Given the description of an element on the screen output the (x, y) to click on. 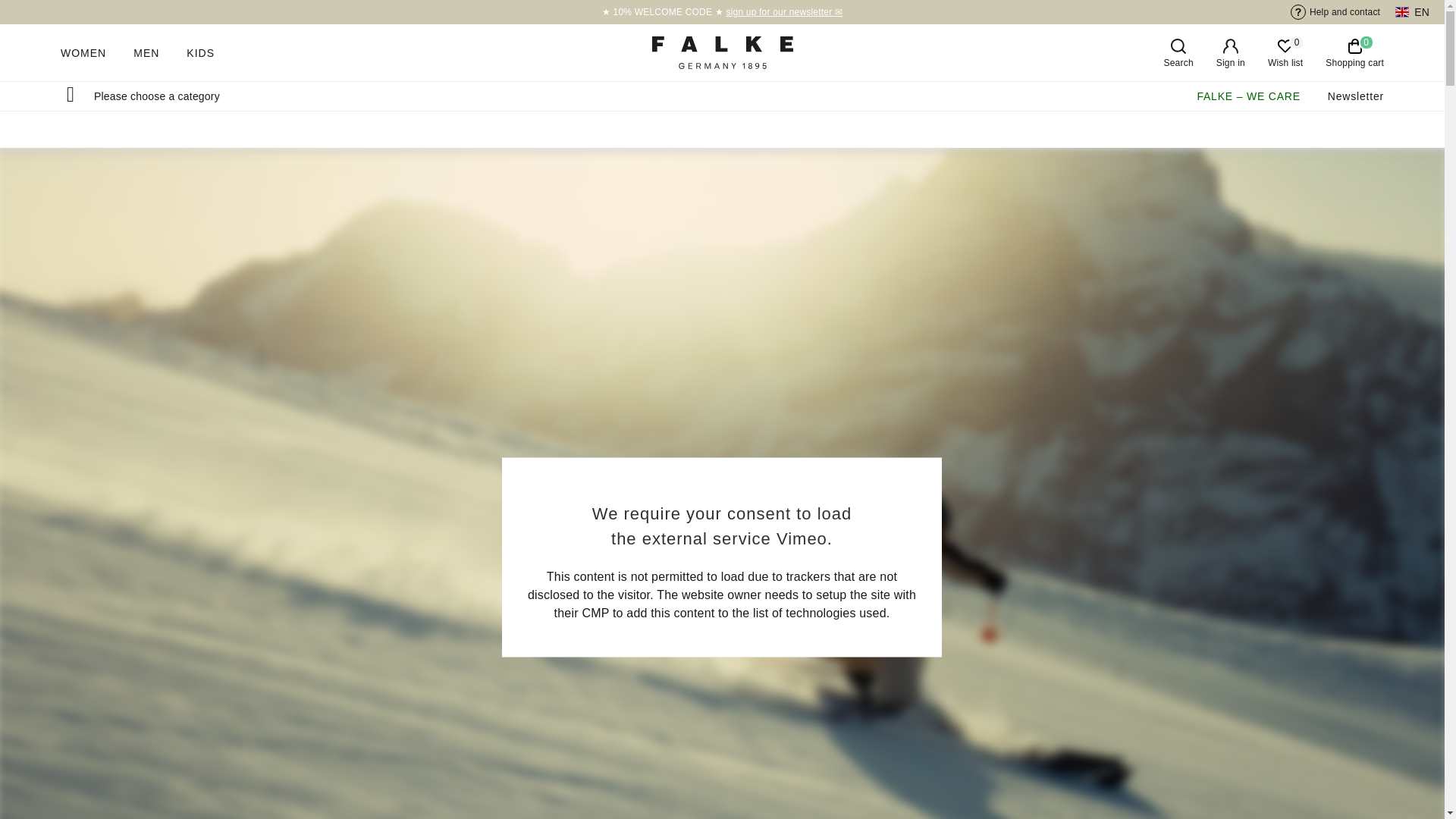
Newsletter (1285, 51)
WOMEN (1355, 95)
KIDS (83, 51)
Help and contact (200, 51)
Sign in (1354, 51)
MEN (1342, 11)
Search (1229, 51)
